Given the description of an element on the screen output the (x, y) to click on. 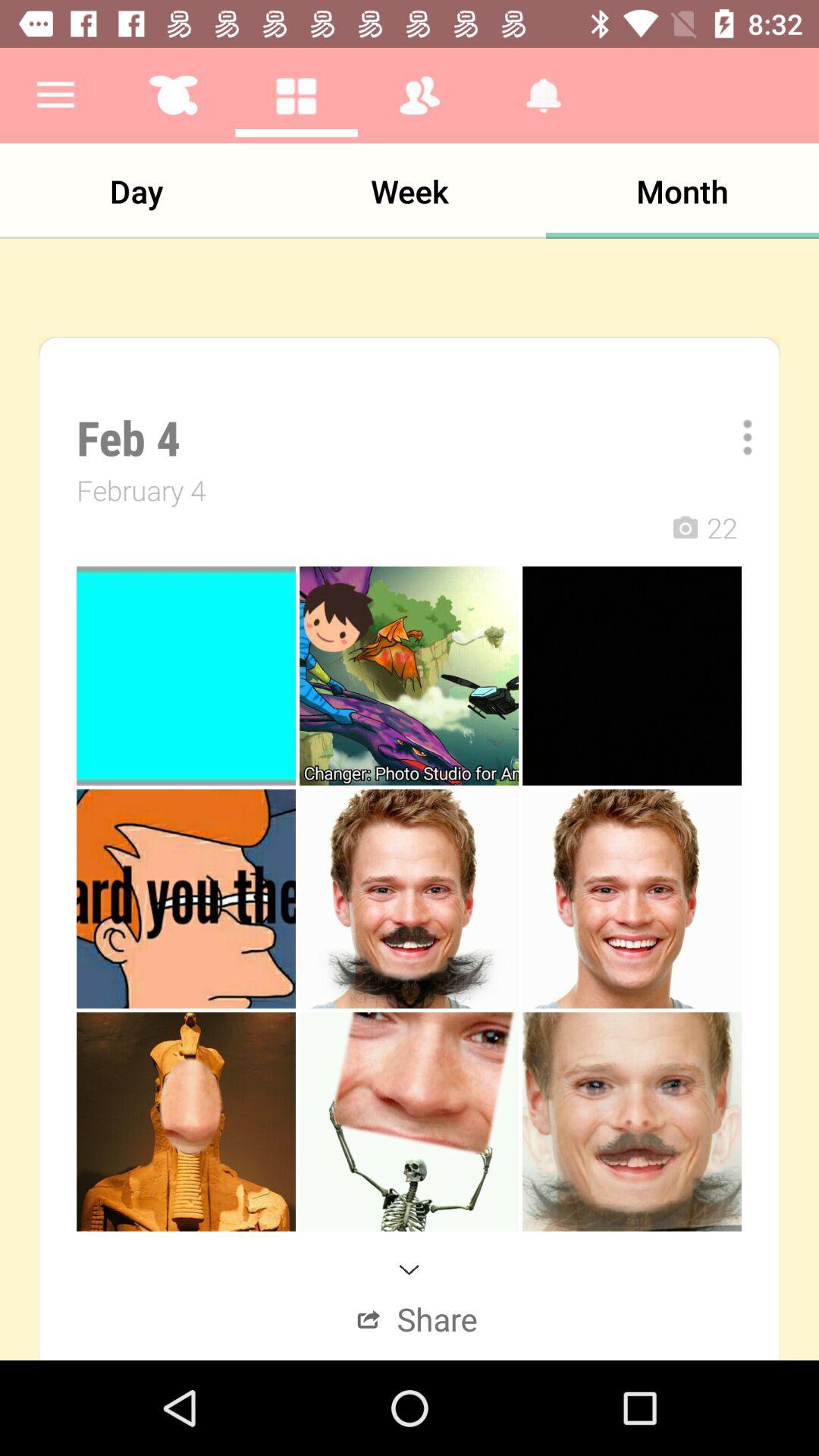
turn off the app to the right of the week item (682, 190)
